Given the description of an element on the screen output the (x, y) to click on. 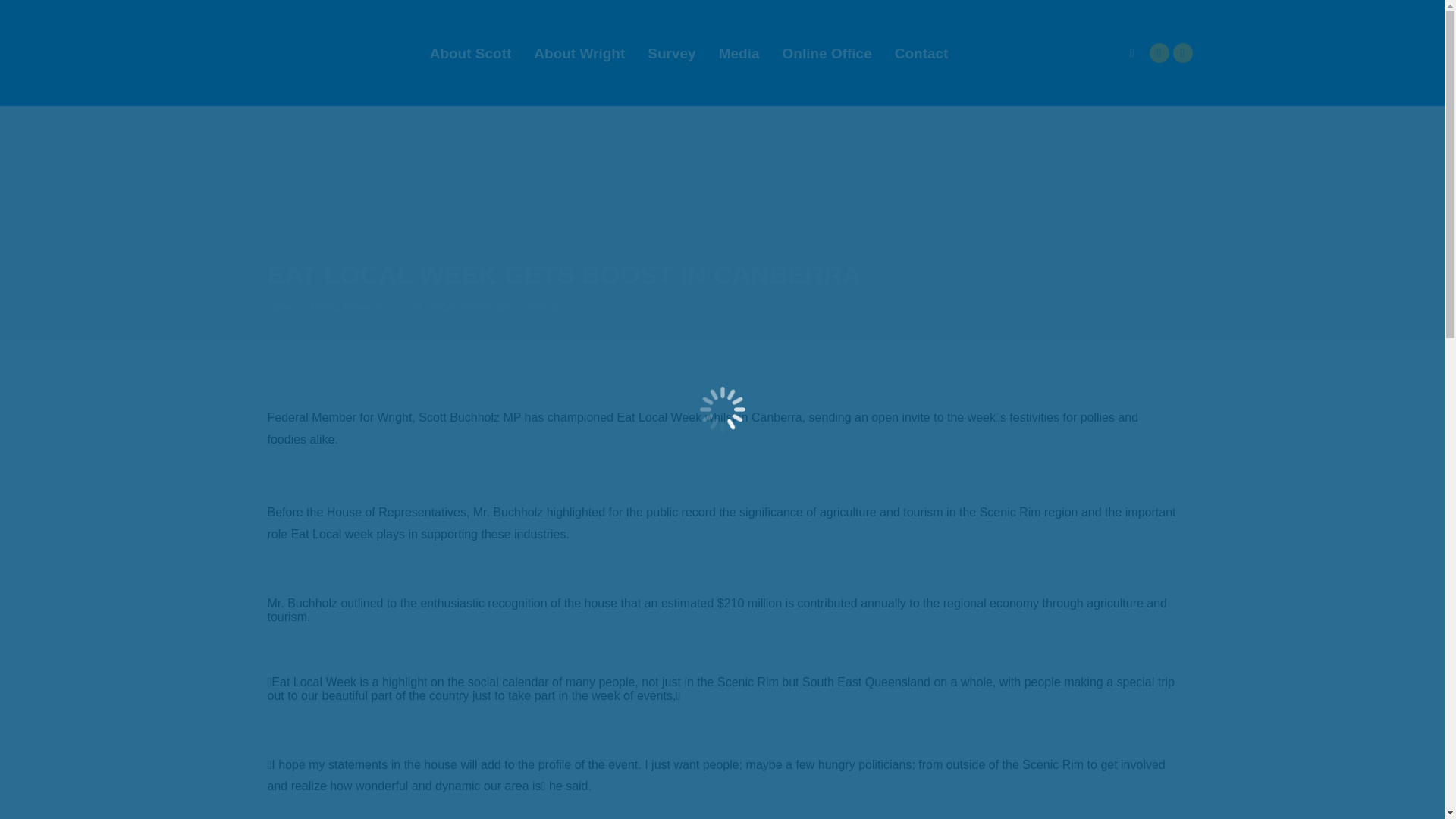
Home (280, 307)
Go! (24, 16)
Contact (921, 52)
Survey (671, 52)
Online Office (826, 52)
Facebook page opens in new window (1159, 53)
X page opens in new window (1182, 53)
About Wright (579, 52)
X page opens in new window (1182, 53)
Media (739, 52)
Media Releases (349, 307)
Facebook page opens in new window (1159, 53)
Home (280, 307)
About Scott (470, 52)
